Given the description of an element on the screen output the (x, y) to click on. 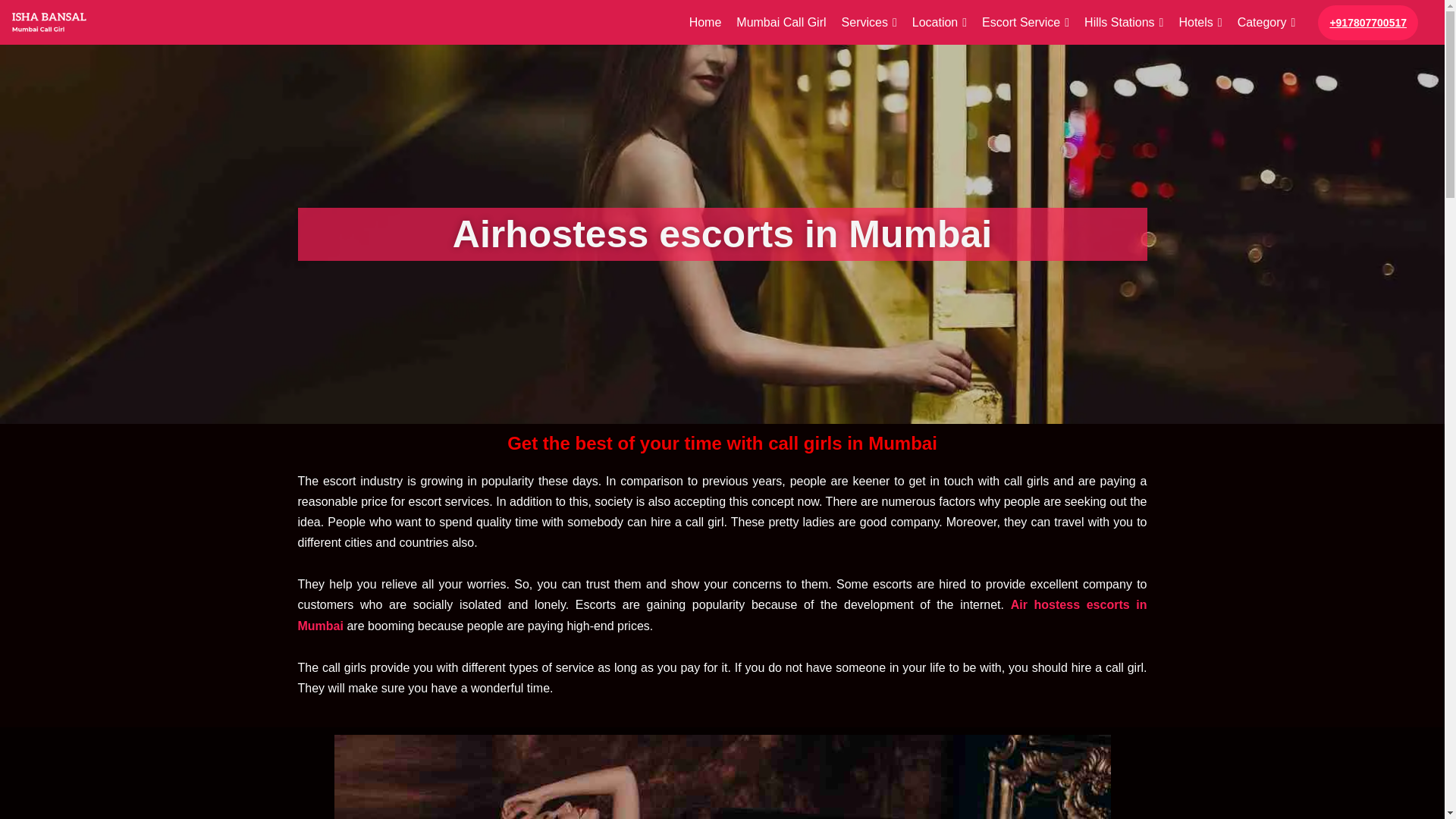
Home (705, 22)
Location (939, 22)
Mumbai Call Girl (780, 22)
Services (869, 22)
